Given the description of an element on the screen output the (x, y) to click on. 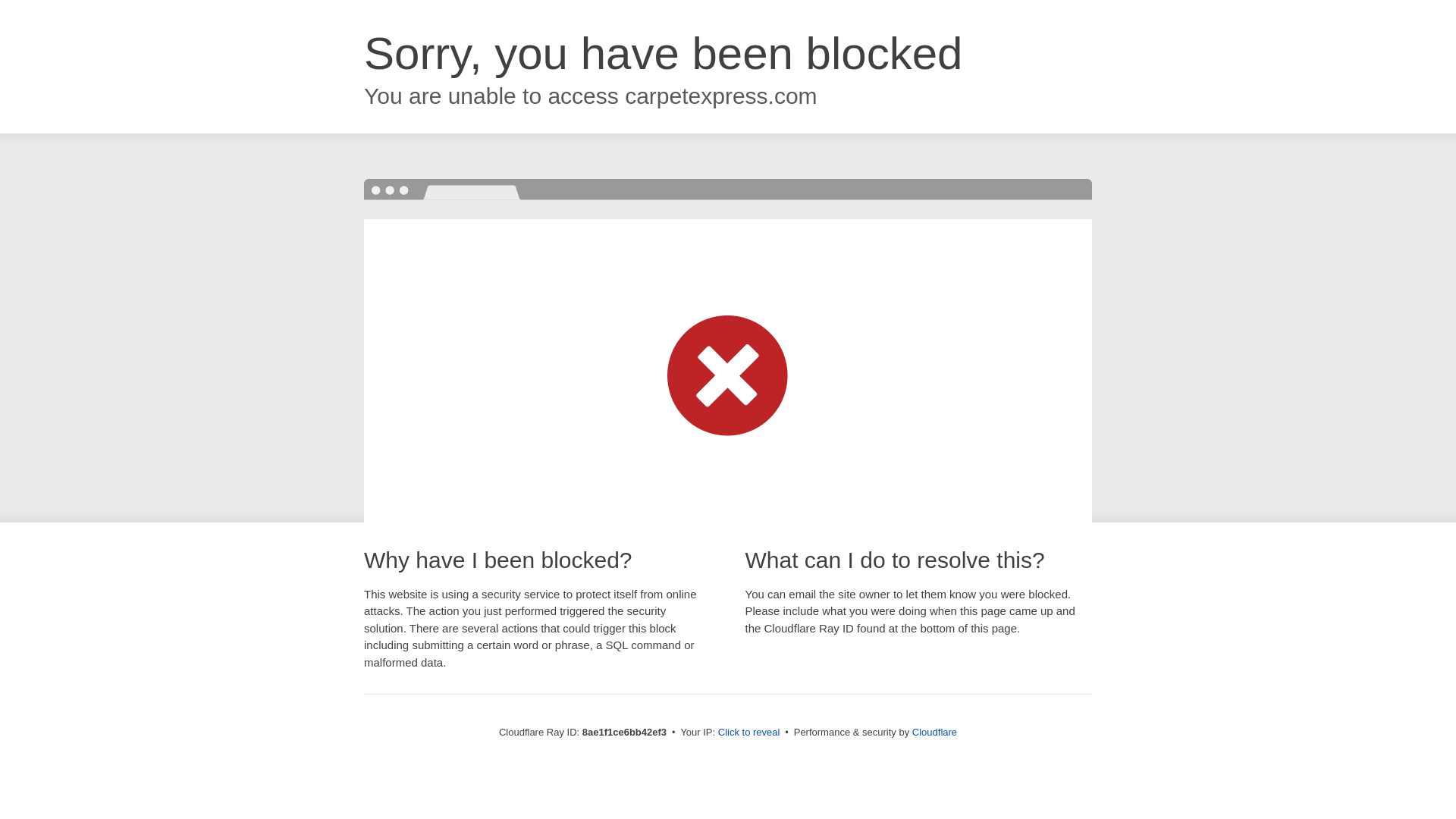
Click to reveal (748, 732)
Cloudflare (934, 731)
